Given the description of an element on the screen output the (x, y) to click on. 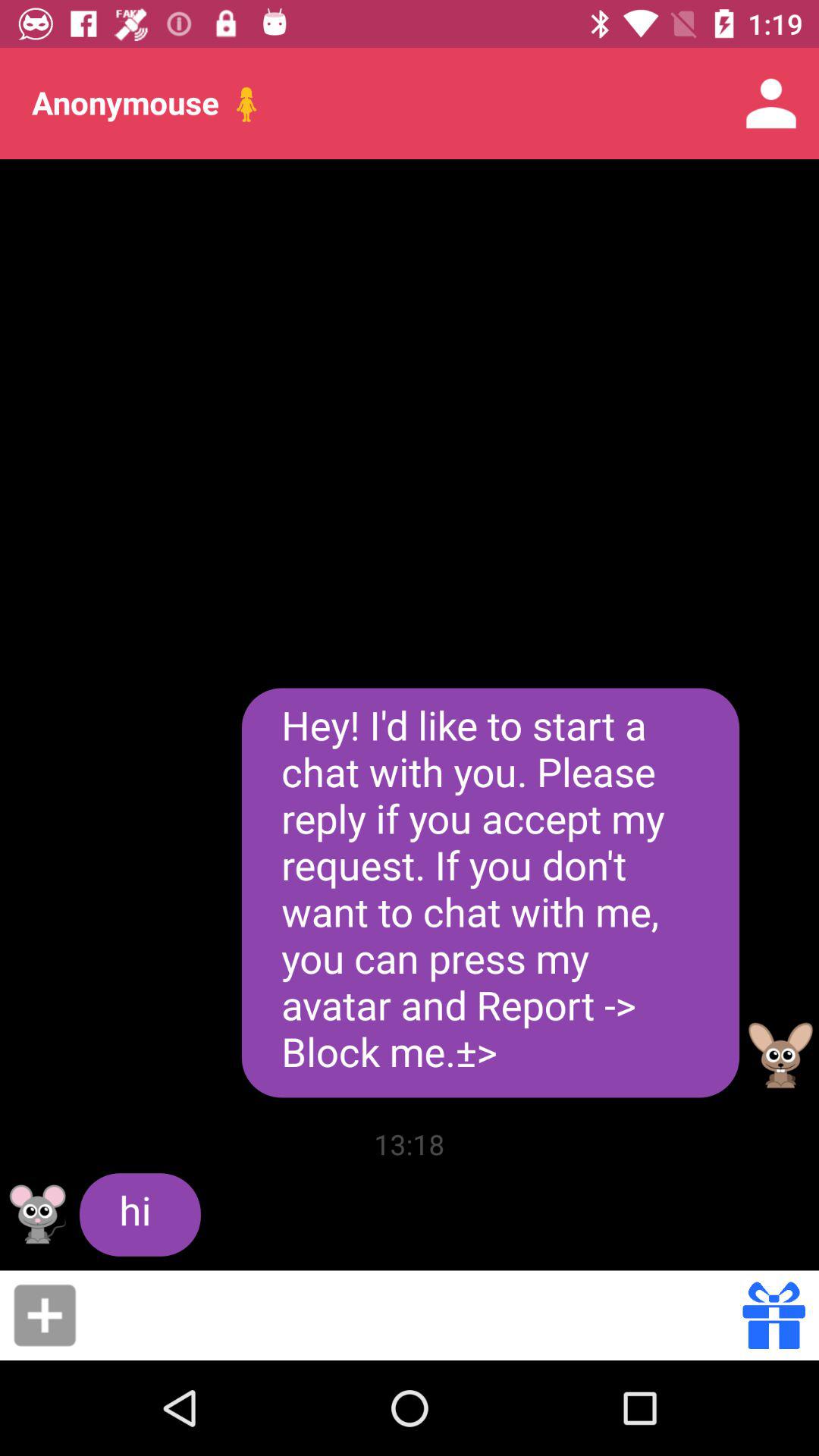
tap the icon at the center (490, 892)
